Given the description of an element on the screen output the (x, y) to click on. 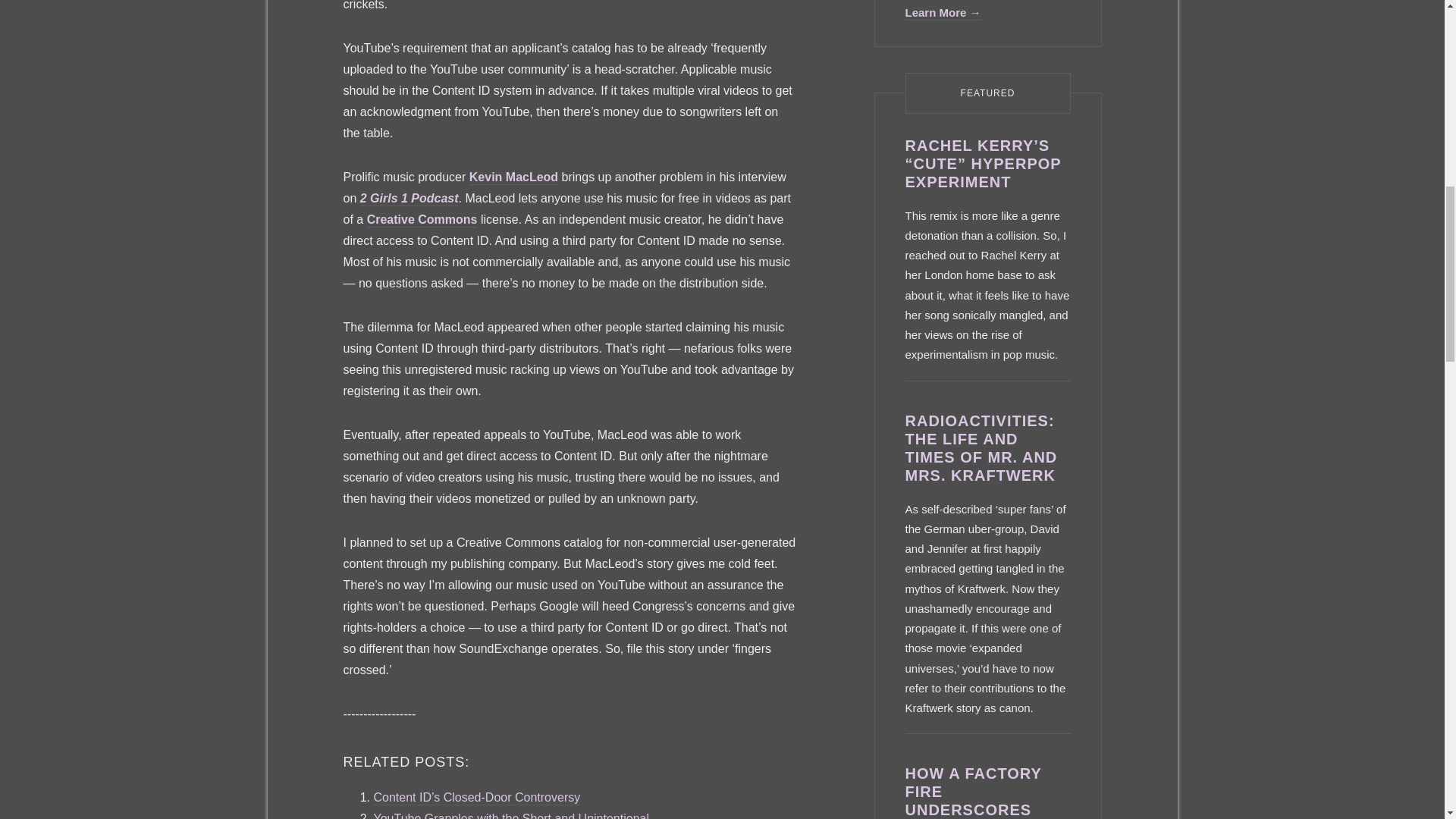
2 Girls 1 Podcast (408, 198)
YouTube Grapples with the Short and Unintentional (510, 815)
Creative Commons (421, 219)
Kevin MacLeod (512, 177)
YouTube Grapples with the Short and Unintentional (510, 815)
